Given the description of an element on the screen output the (x, y) to click on. 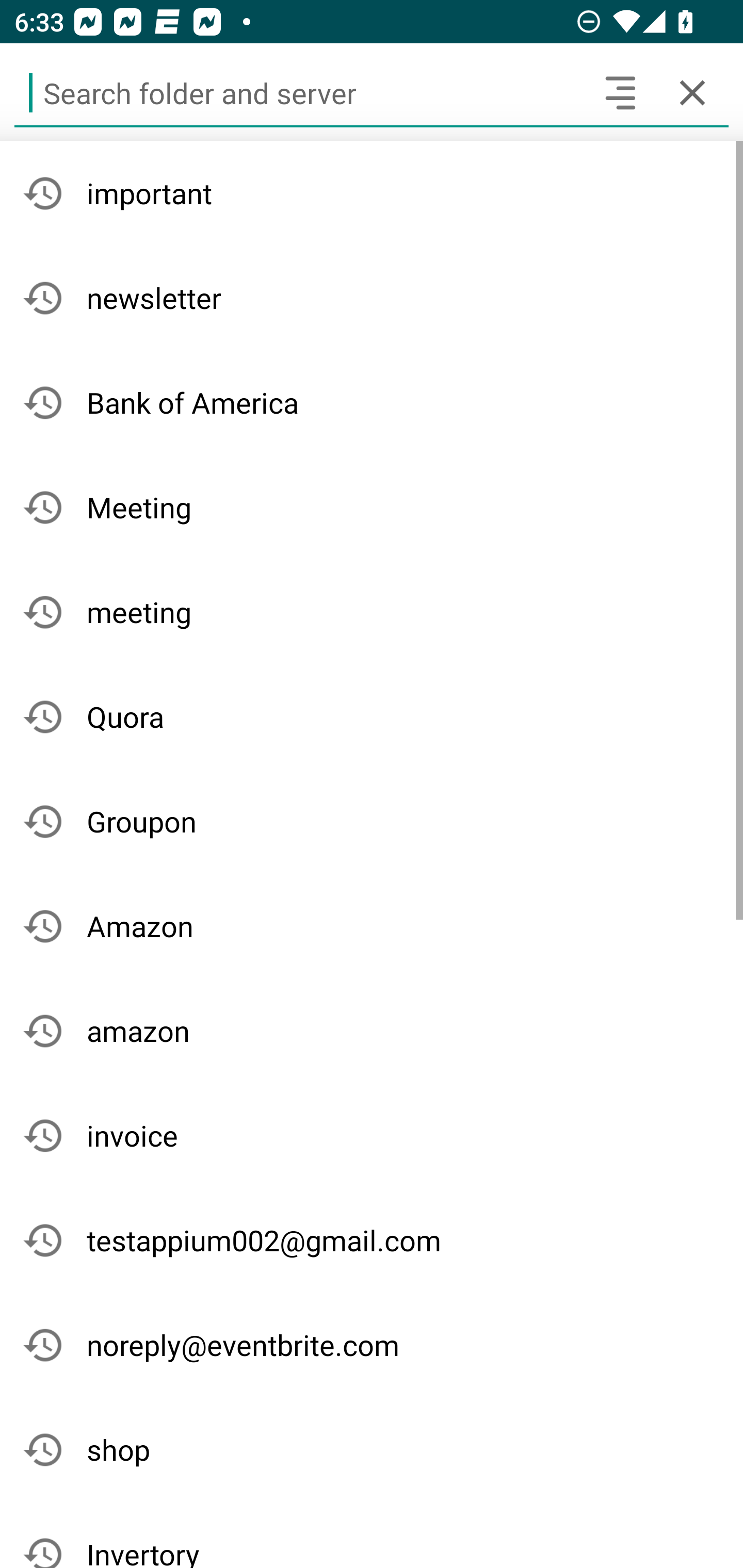
   Search folder and server (298, 92)
Search headers and text (619, 92)
Cancel (692, 92)
